Given the description of an element on the screen output the (x, y) to click on. 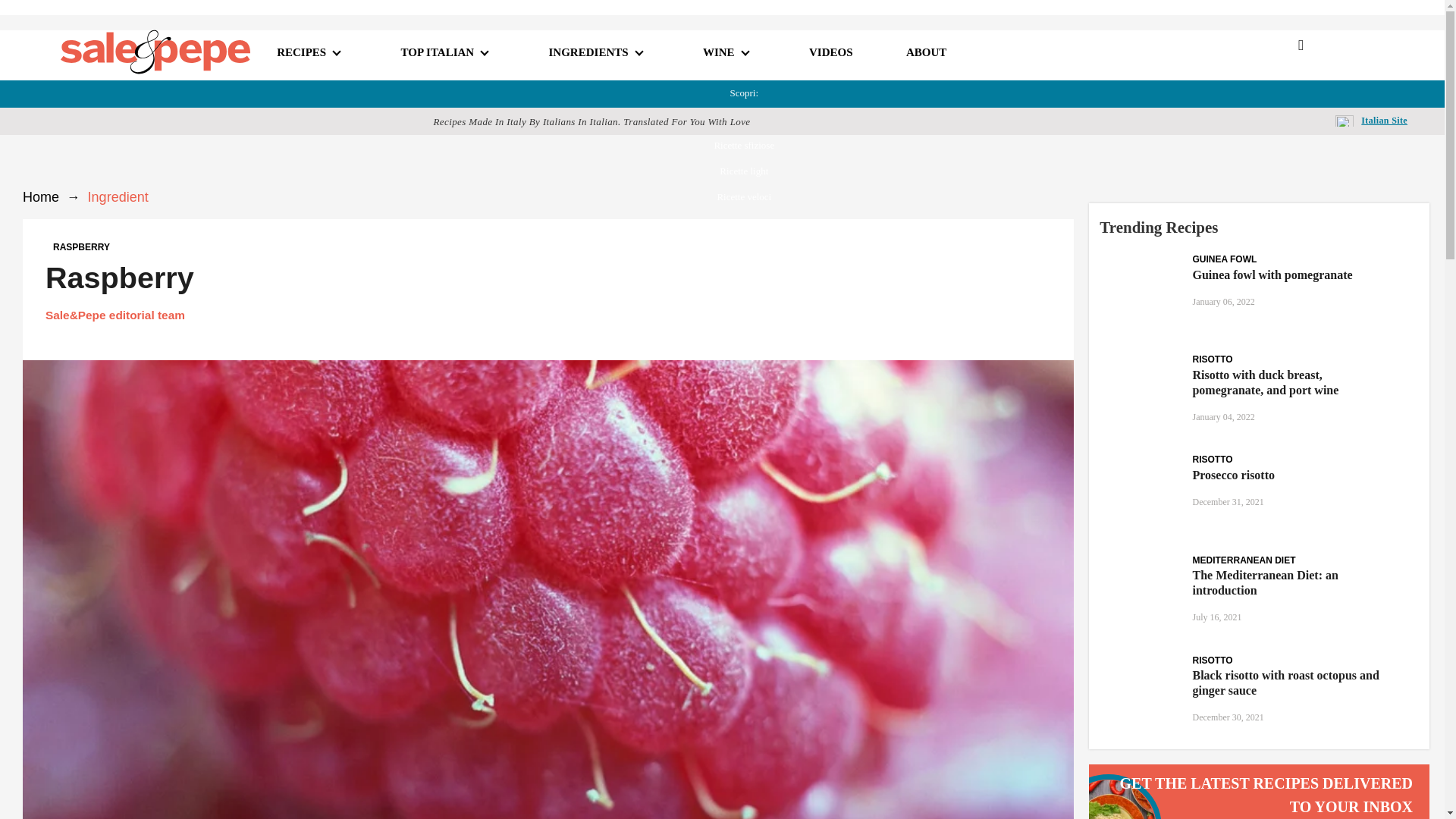
INGREDIENTS (588, 51)
TOP ITALIAN (437, 51)
RECIPES (301, 51)
